Given the description of an element on the screen output the (x, y) to click on. 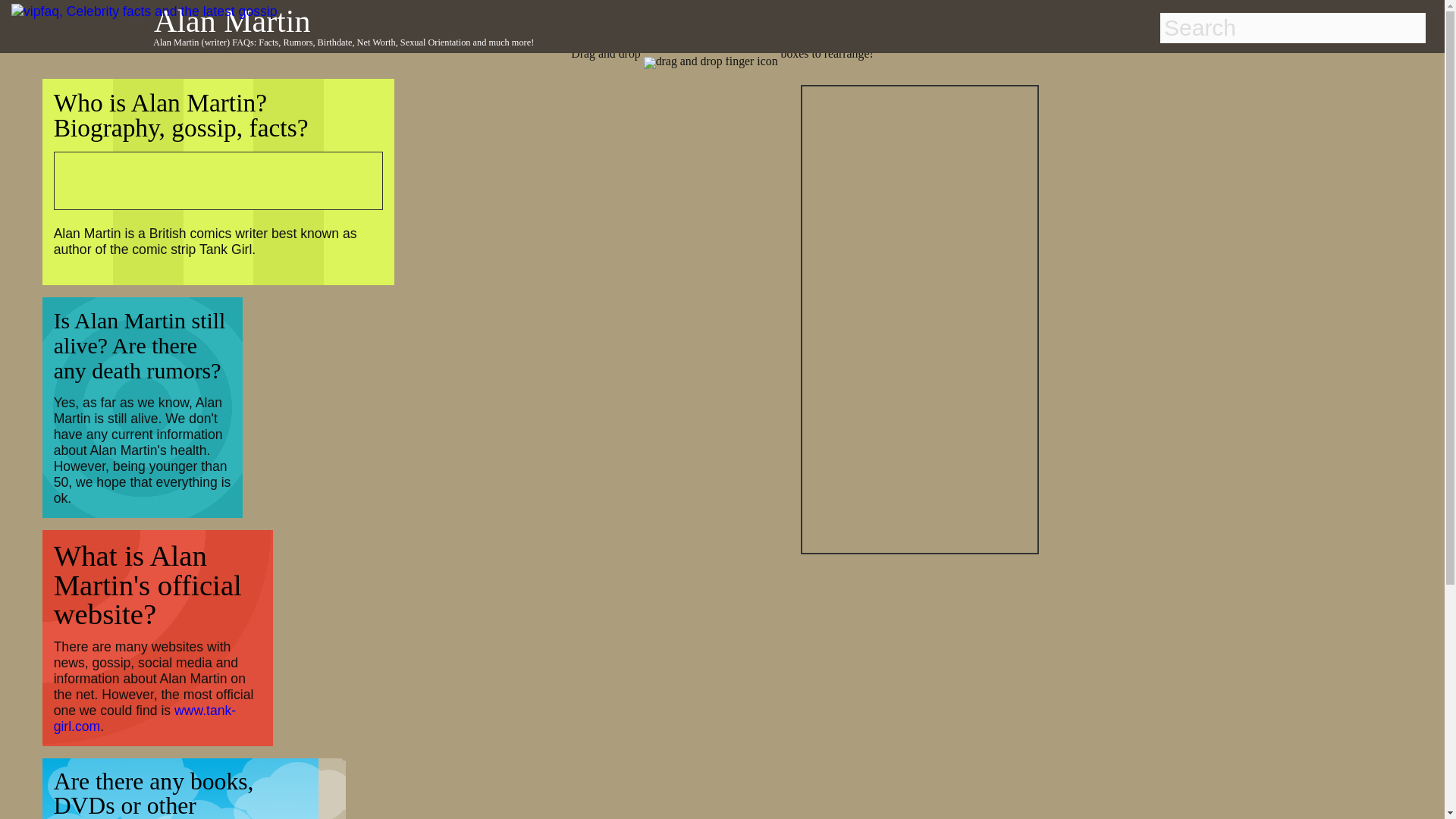
www.tank-girl.com (144, 717)
